Given the description of an element on the screen output the (x, y) to click on. 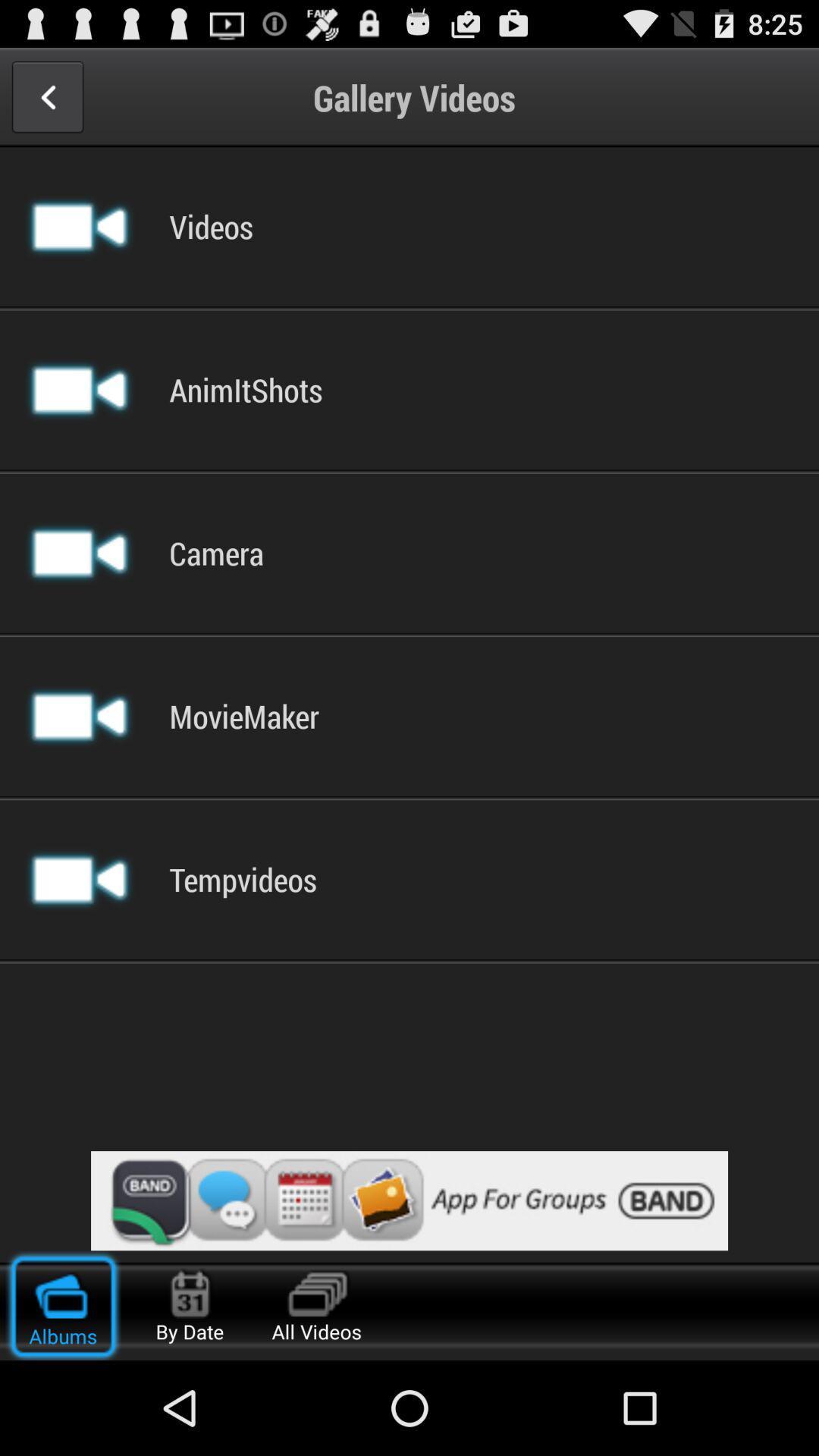
know about the advertisement (409, 1200)
